Given the description of an element on the screen output the (x, y) to click on. 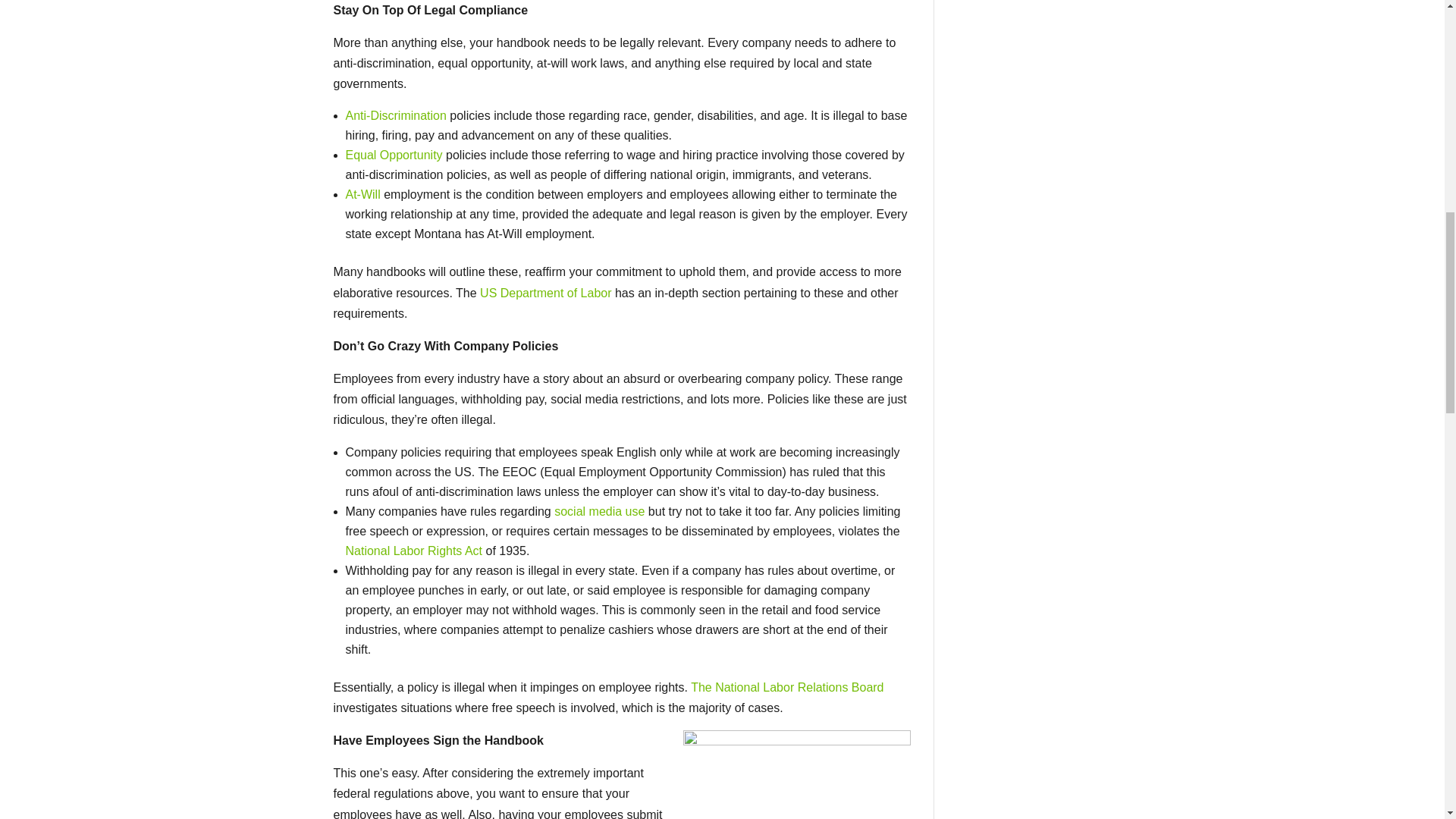
At-Will (363, 194)
US Department of Labor (545, 292)
Equal Opportunity (394, 154)
social media use (598, 511)
Anti-Discrimination (396, 115)
